Given the description of an element on the screen output the (x, y) to click on. 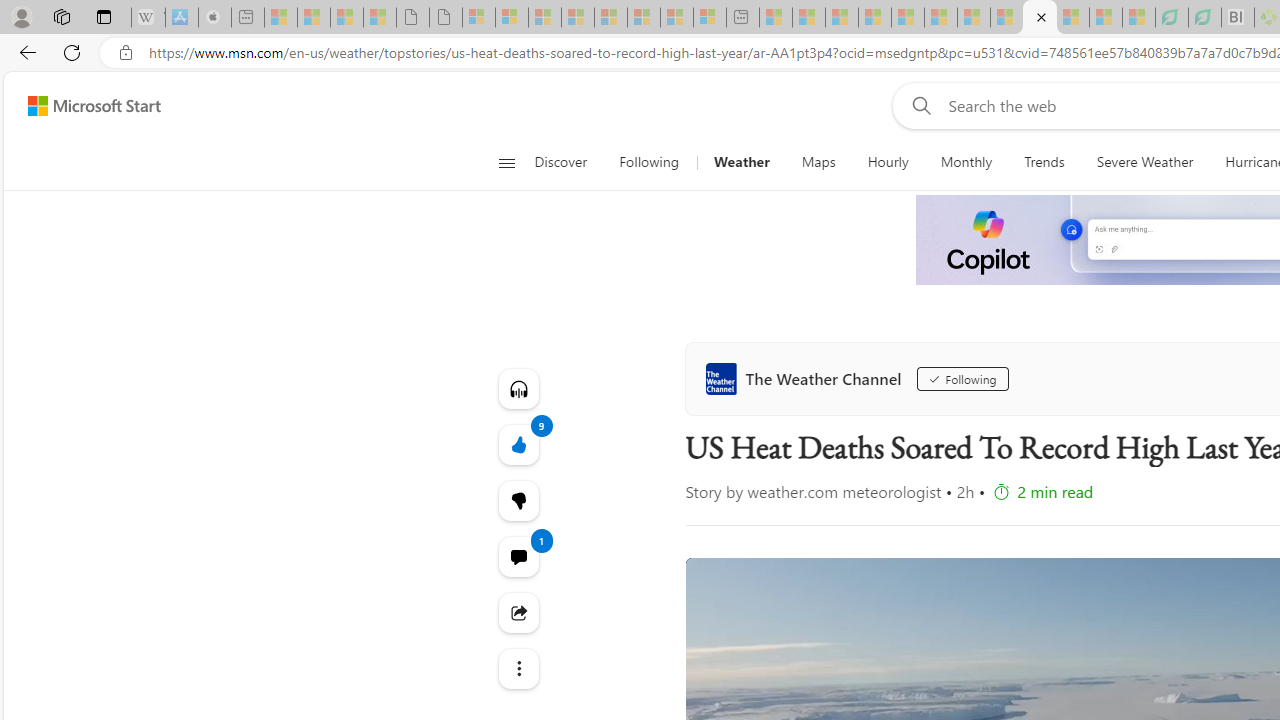
Severe Weather (1144, 162)
Severe Weather (1144, 162)
Maps (818, 162)
Listen to this article (517, 388)
Monthly (966, 162)
Food and Drink - MSN - Sleeping (874, 17)
Hourly (887, 162)
Hourly (888, 162)
